Given the description of an element on the screen output the (x, y) to click on. 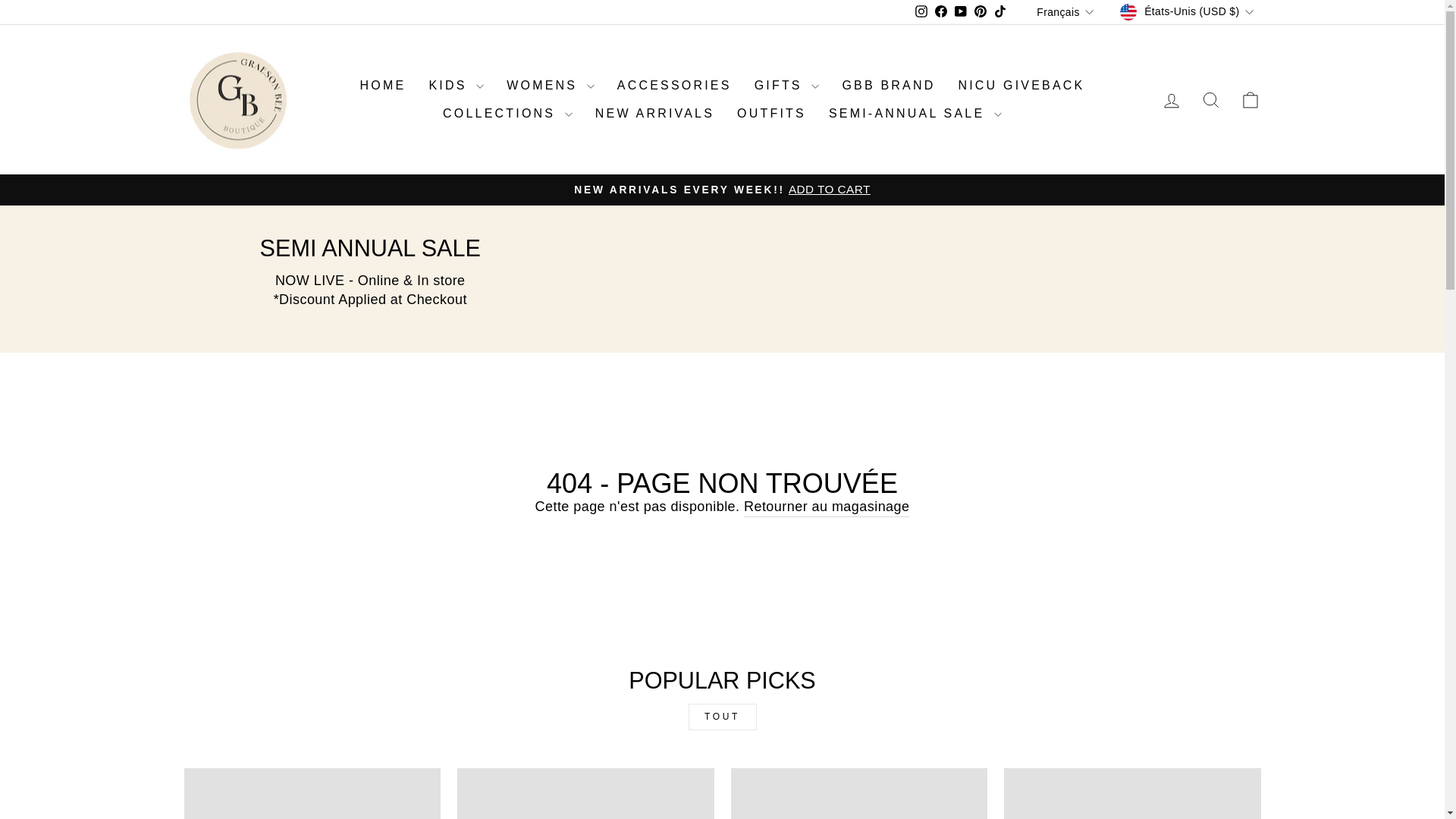
ACCOUNT (1170, 100)
Graeson Bee Boutique sur TikTok (1000, 11)
ICON-BAG-MINIMAL (1249, 99)
Graeson Bee Boutique sur Pinterest (980, 11)
Graeson Bee Boutique sur Facebook (940, 11)
Graeson Bee Boutique sur YouTube (960, 11)
Graeson Bee Boutique sur Instagram (921, 11)
instagram (921, 10)
ICON-SEARCH (1210, 99)
